Given the description of an element on the screen output the (x, y) to click on. 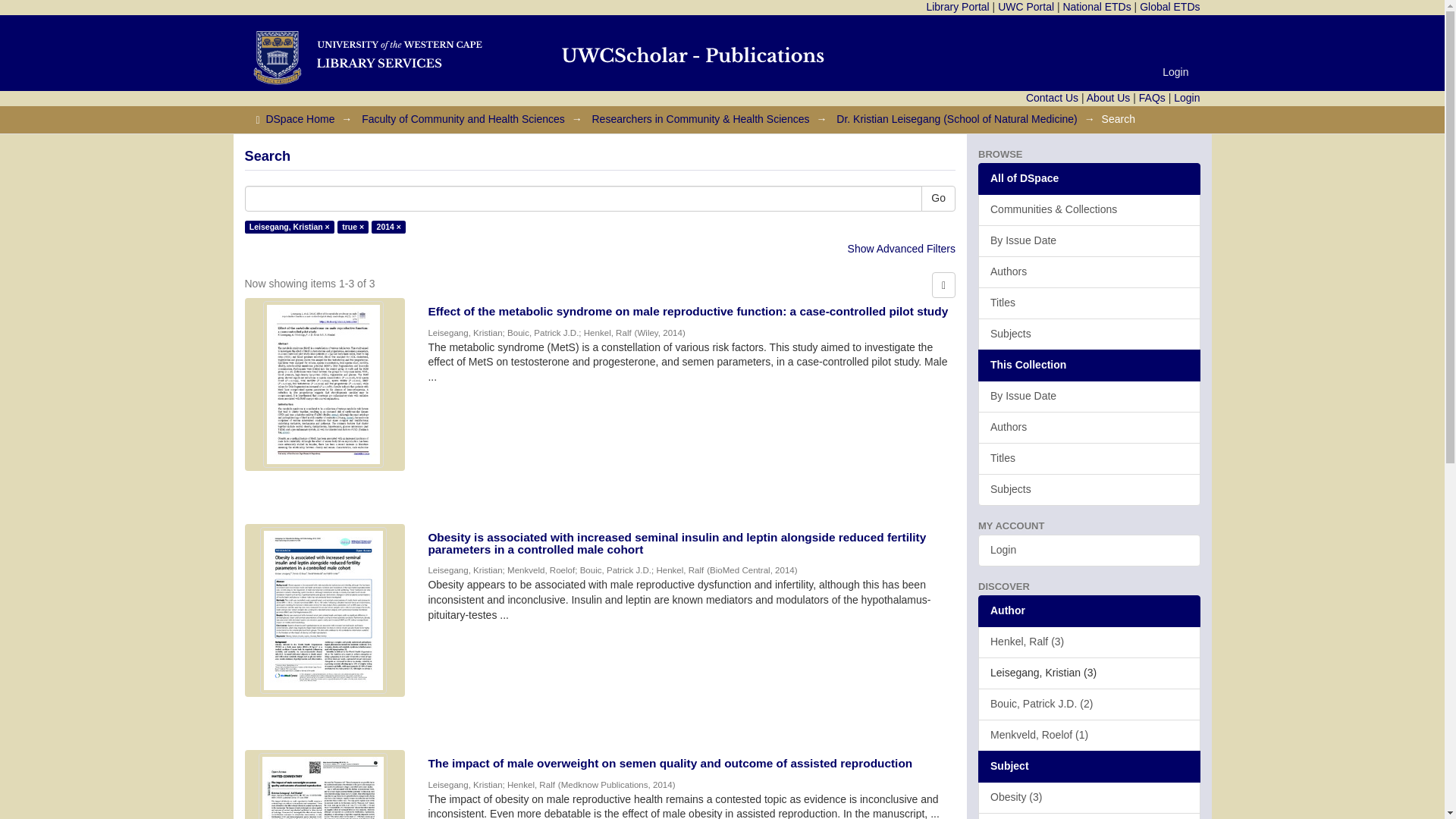
Show Advanced Filters (901, 248)
FAQs (1152, 97)
UWC Portal (1025, 6)
Global ETDs (1169, 6)
About Us (1108, 97)
DSpace Home (299, 119)
Contact Us (1052, 97)
Login (1186, 97)
Login (1175, 71)
Faculty of Community and Health Sciences (462, 119)
